Given the description of an element on the screen output the (x, y) to click on. 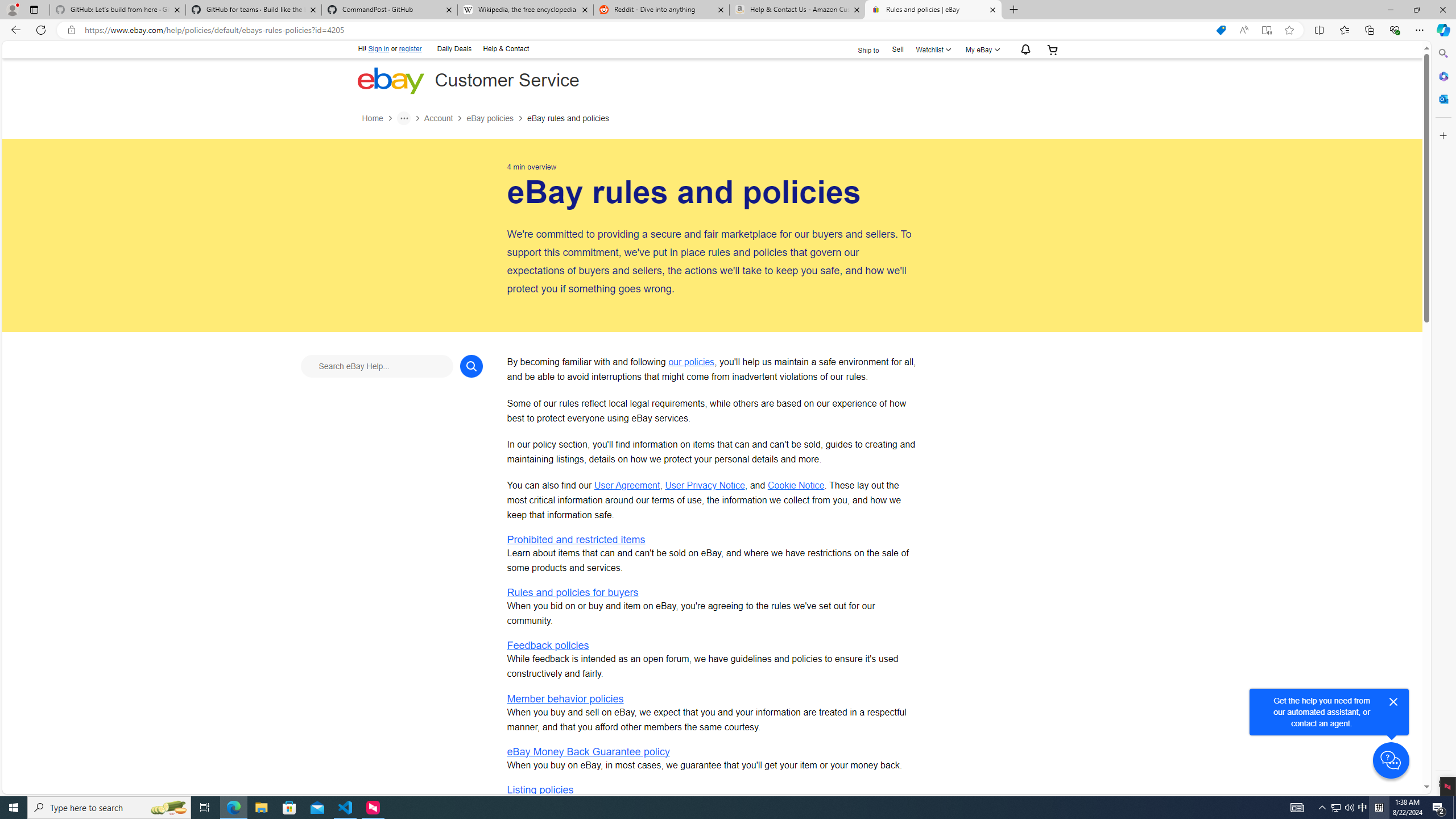
Help & Contact Us - Amazon Customer Service - Sleeping (797, 9)
